Given the description of an element on the screen output the (x, y) to click on. 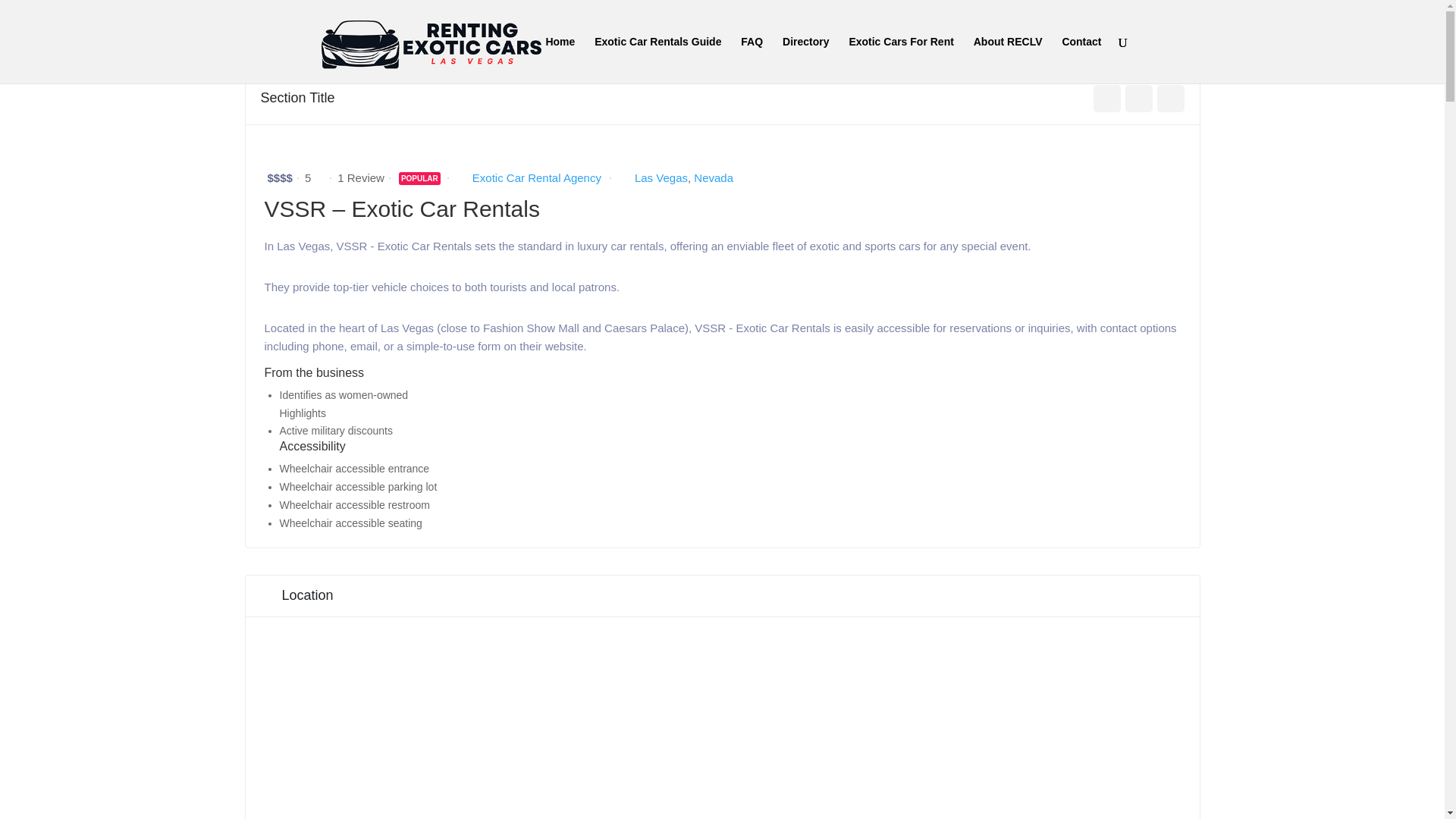
Nevada (713, 177)
About RECLV (1008, 59)
Las Vegas (660, 177)
Directory (805, 59)
Exotic Cars For Rent (900, 59)
Exotic Car Rental Agency (536, 177)
Exotic Car Rentals Guide (657, 59)
